Given the description of an element on the screen output the (x, y) to click on. 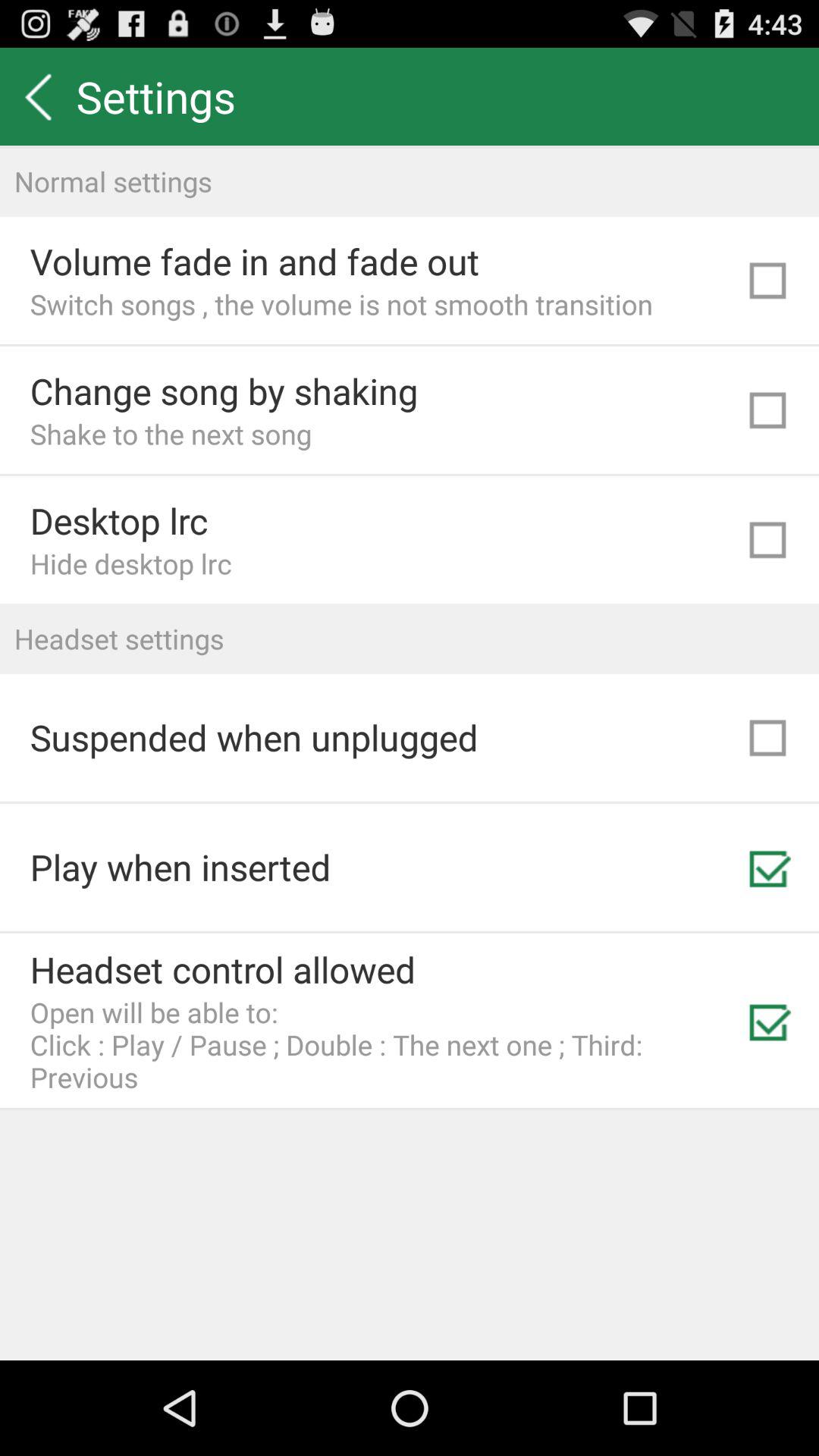
click item to the left of settings icon (38, 96)
